Given the description of an element on the screen output the (x, y) to click on. 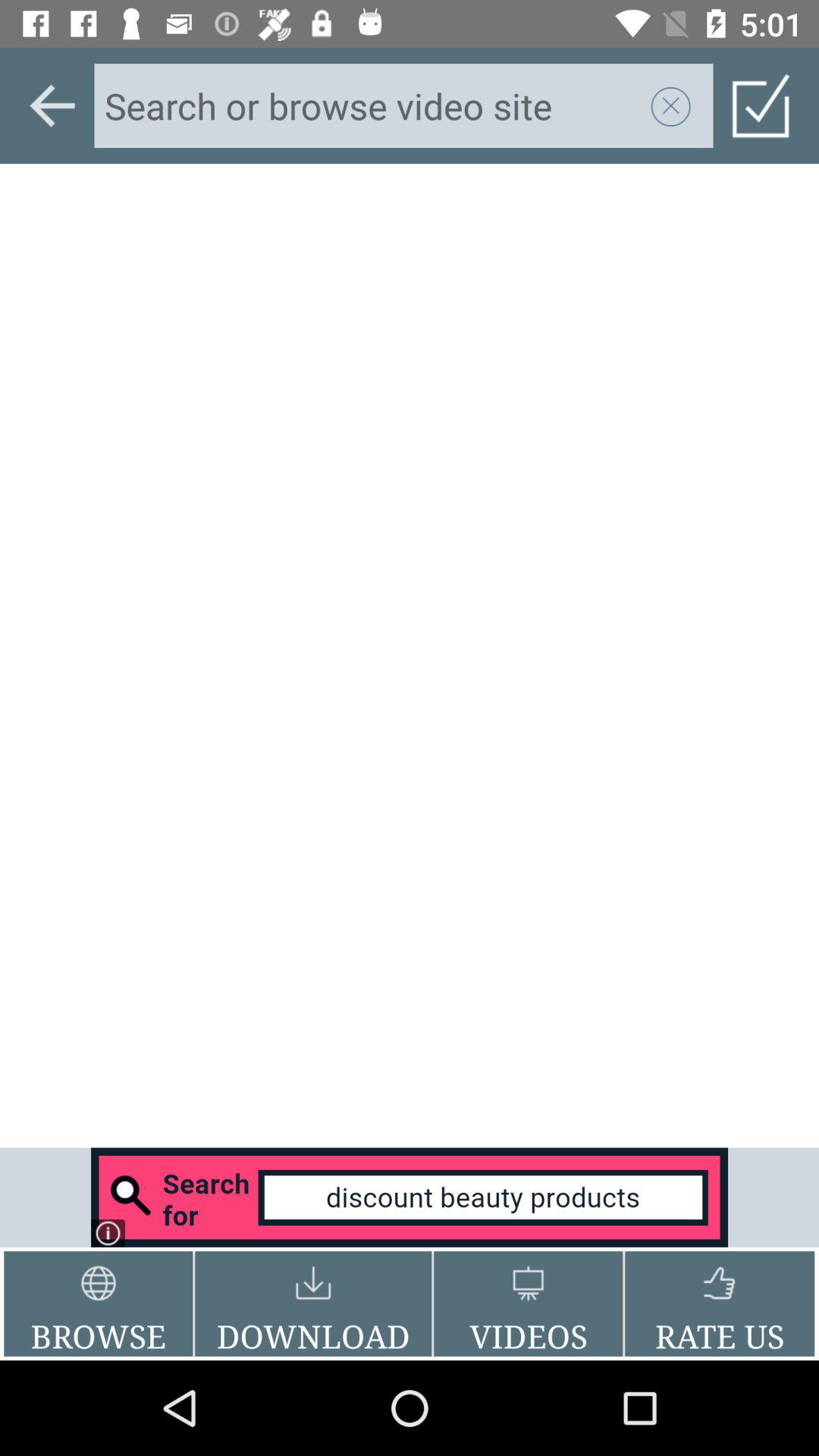
turn off the button next to the browse (313, 1303)
